Given the description of an element on the screen output the (x, y) to click on. 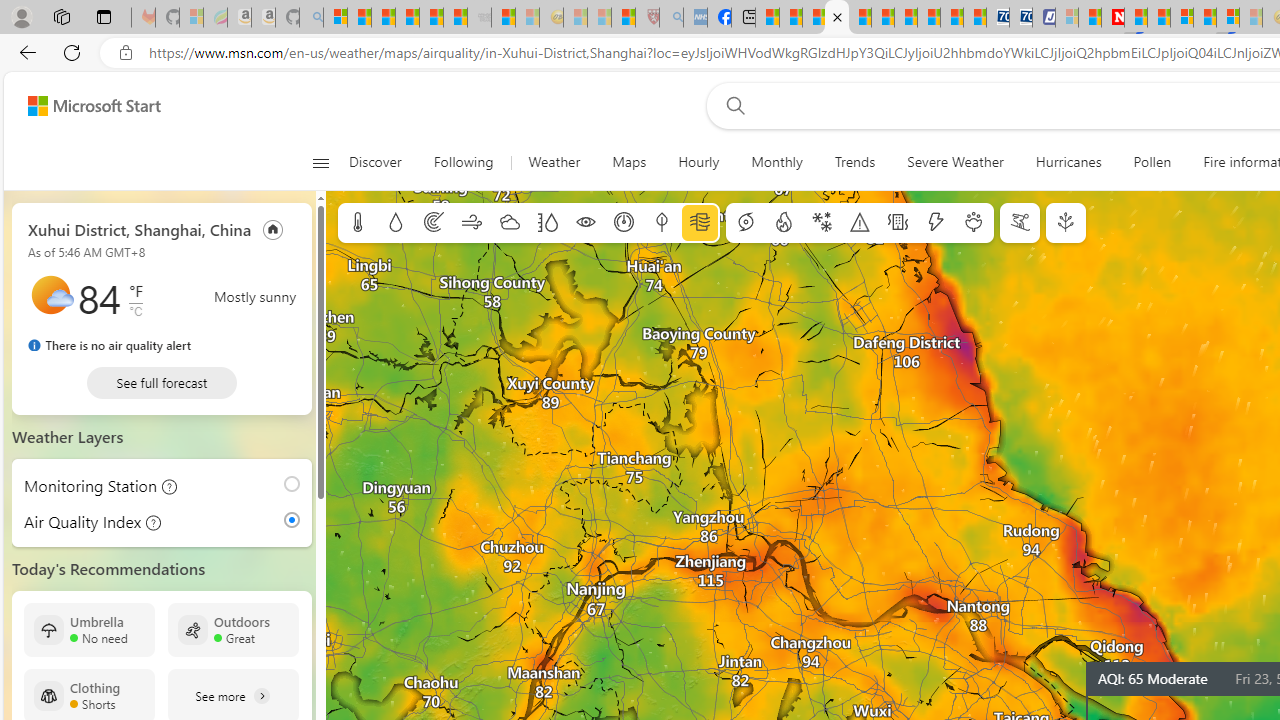
NCL Adult Asthma Inhaler Choice Guideline - Sleeping (694, 17)
Microsoft Start - Sleeping (526, 17)
Pollen (1152, 162)
Microsoft-Report a Concern to Bing - Sleeping (191, 17)
Hurricanes (1067, 162)
Severe Weather (955, 162)
14 Common Myths Debunked By Scientific Facts (1158, 17)
